Given the description of an element on the screen output the (x, y) to click on. 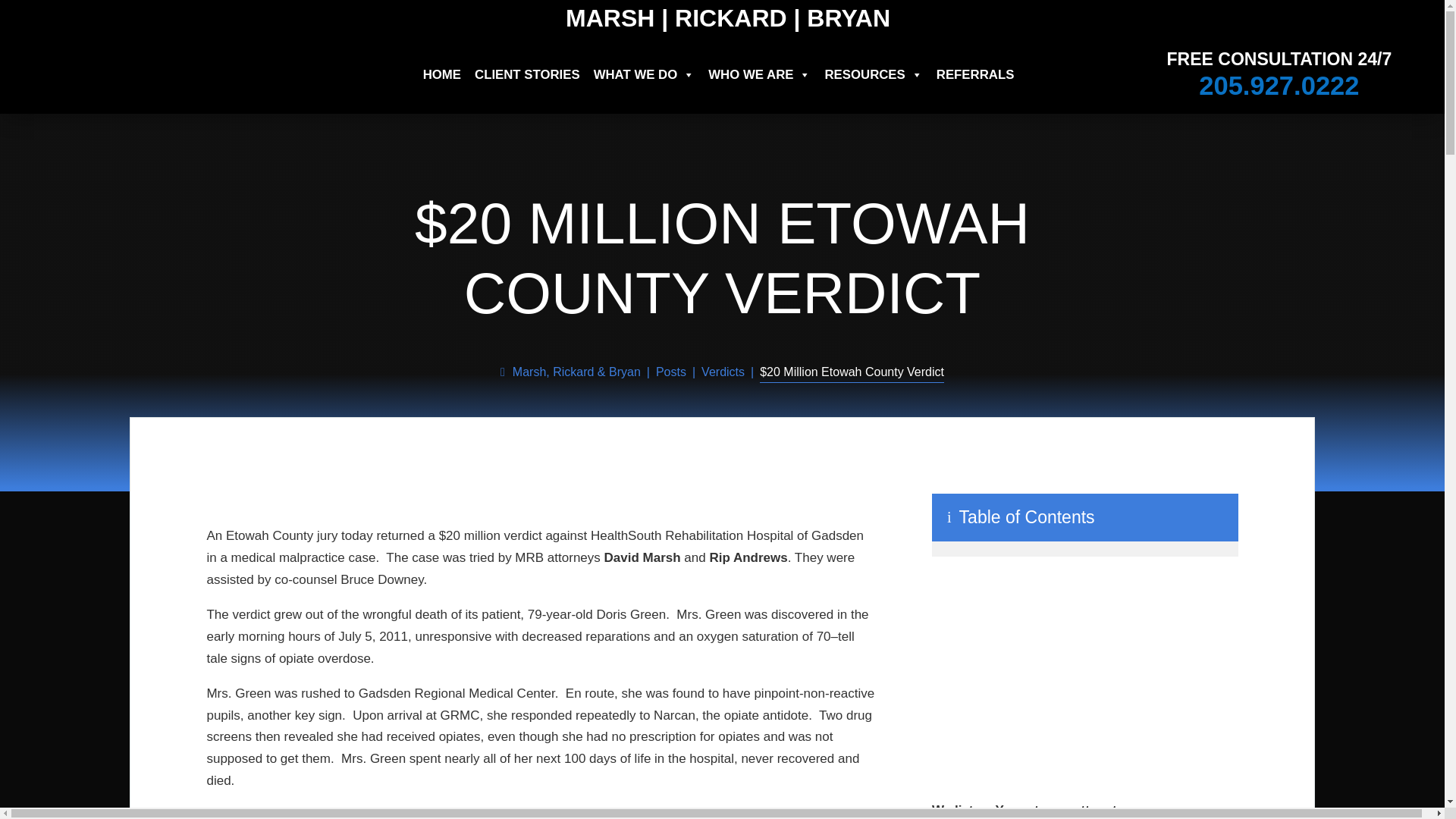
HOME (442, 74)
WHAT WE DO (644, 74)
MRB Trial Attorneys in Alabama wrongful death (1084, 678)
CLIENT STORIES (527, 74)
